Given the description of an element on the screen output the (x, y) to click on. 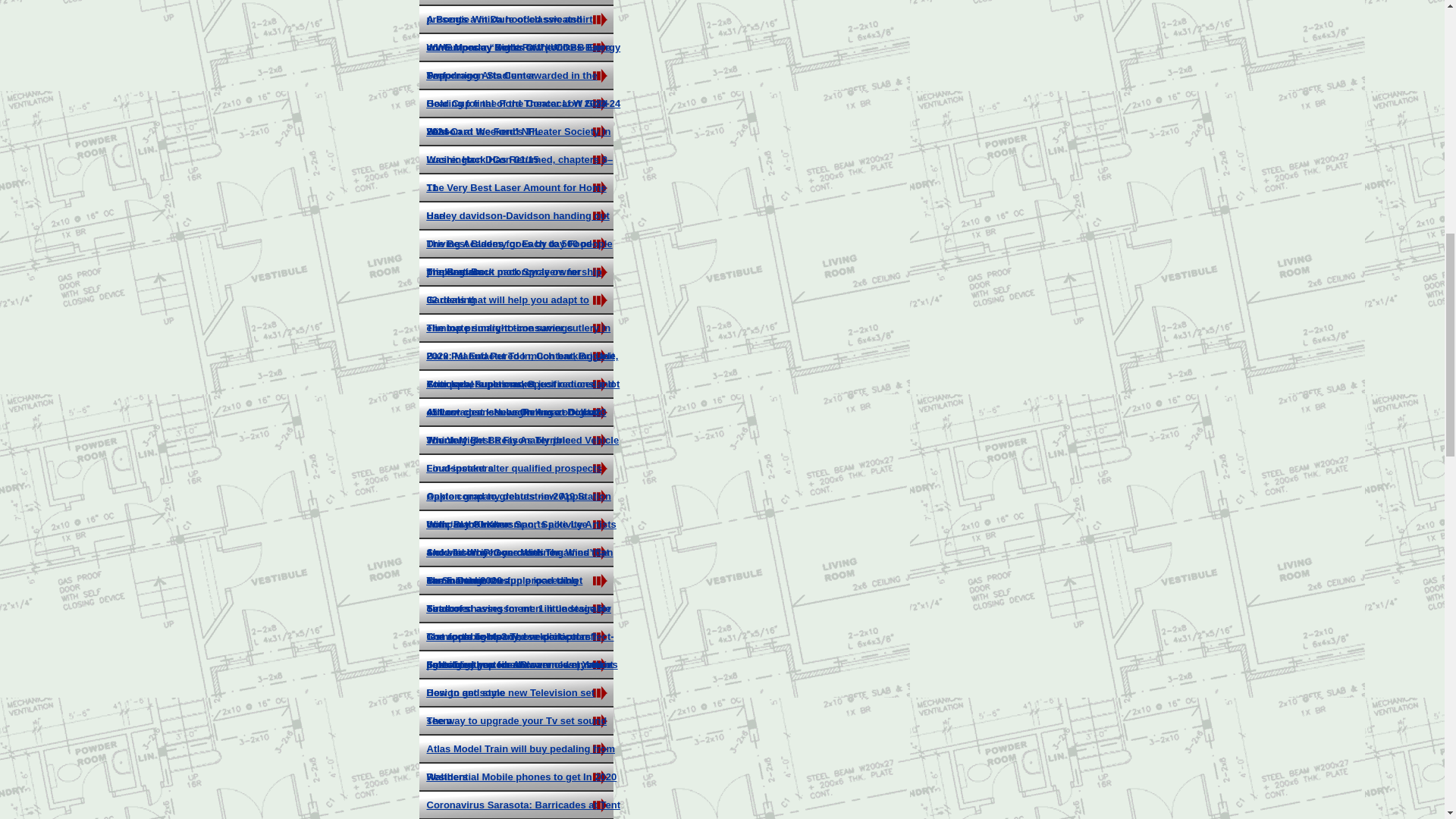
The Best Blades for Each day Food preparation (508, 257)
Wild-Card Weekend NFL (483, 131)
The Very Best Laser Amount for Home Use (515, 201)
The Best Back pack Sprayers for Gardening (502, 285)
